Given the description of an element on the screen output the (x, y) to click on. 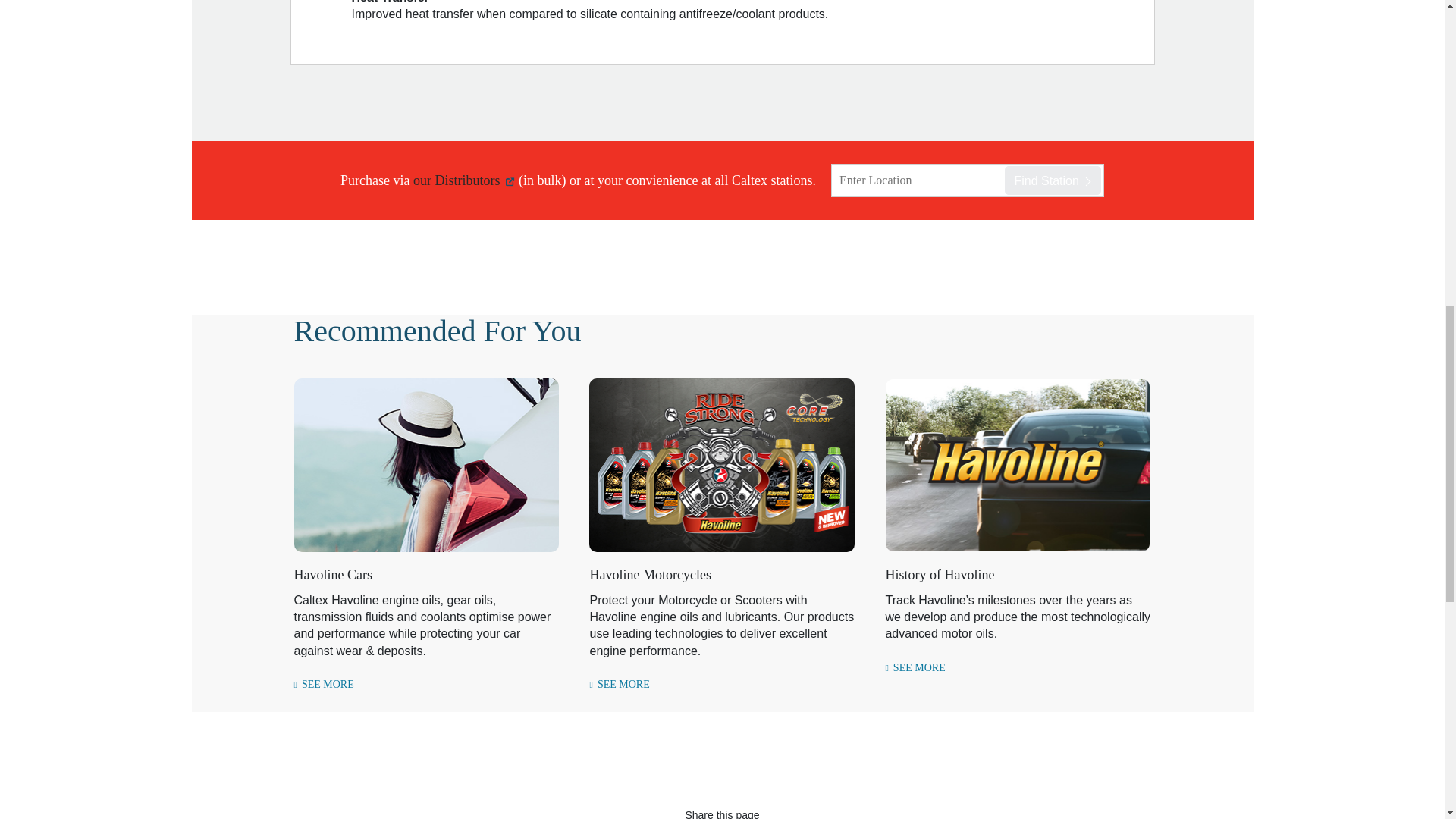
See More (323, 684)
See More (619, 684)
See More (914, 667)
